Given the description of an element on the screen output the (x, y) to click on. 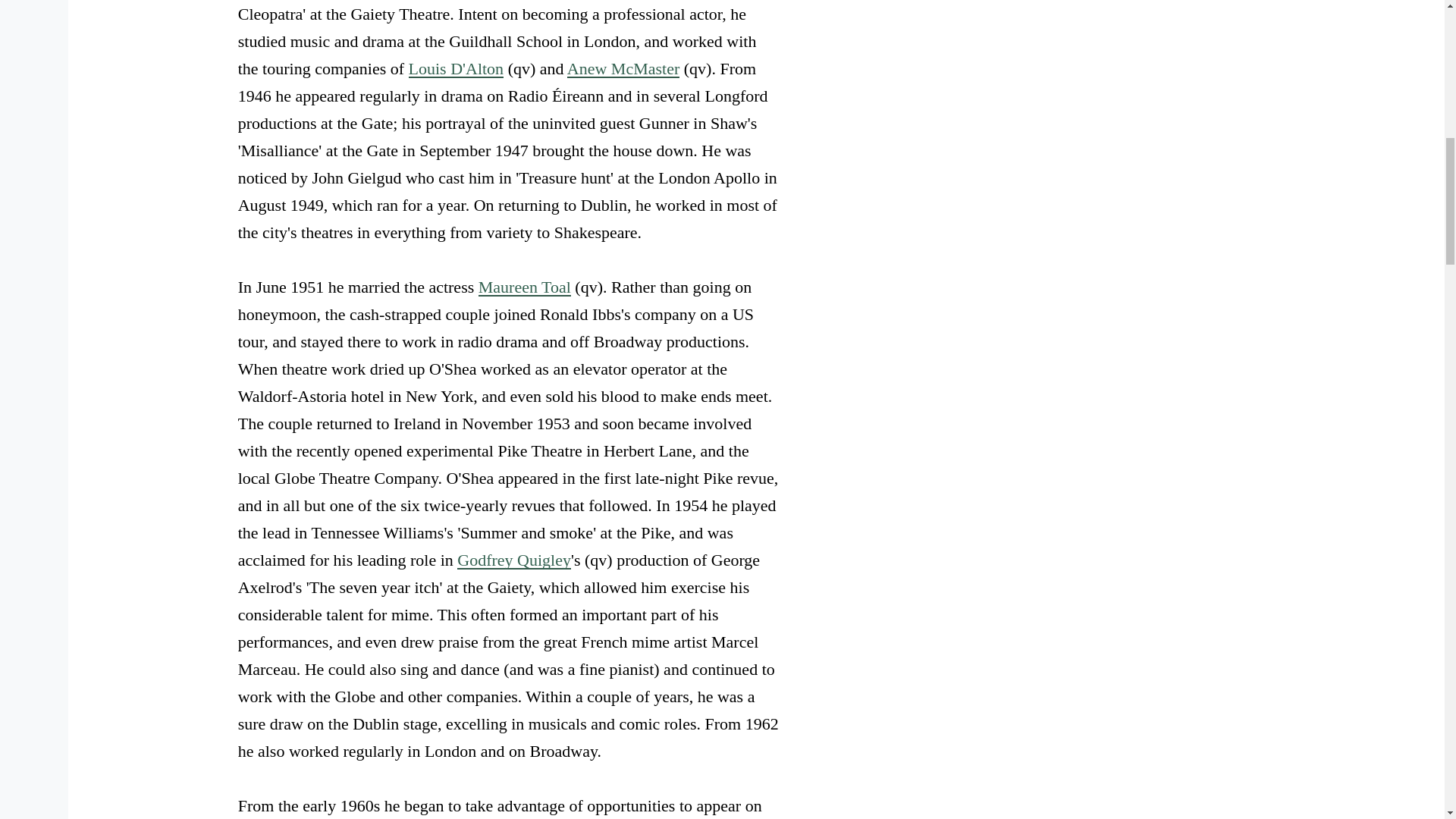
Louis D'Alton (456, 67)
Godfrey Quigley (513, 559)
Maureen Toal (524, 286)
Anew McMaster (623, 67)
